Given the description of an element on the screen output the (x, y) to click on. 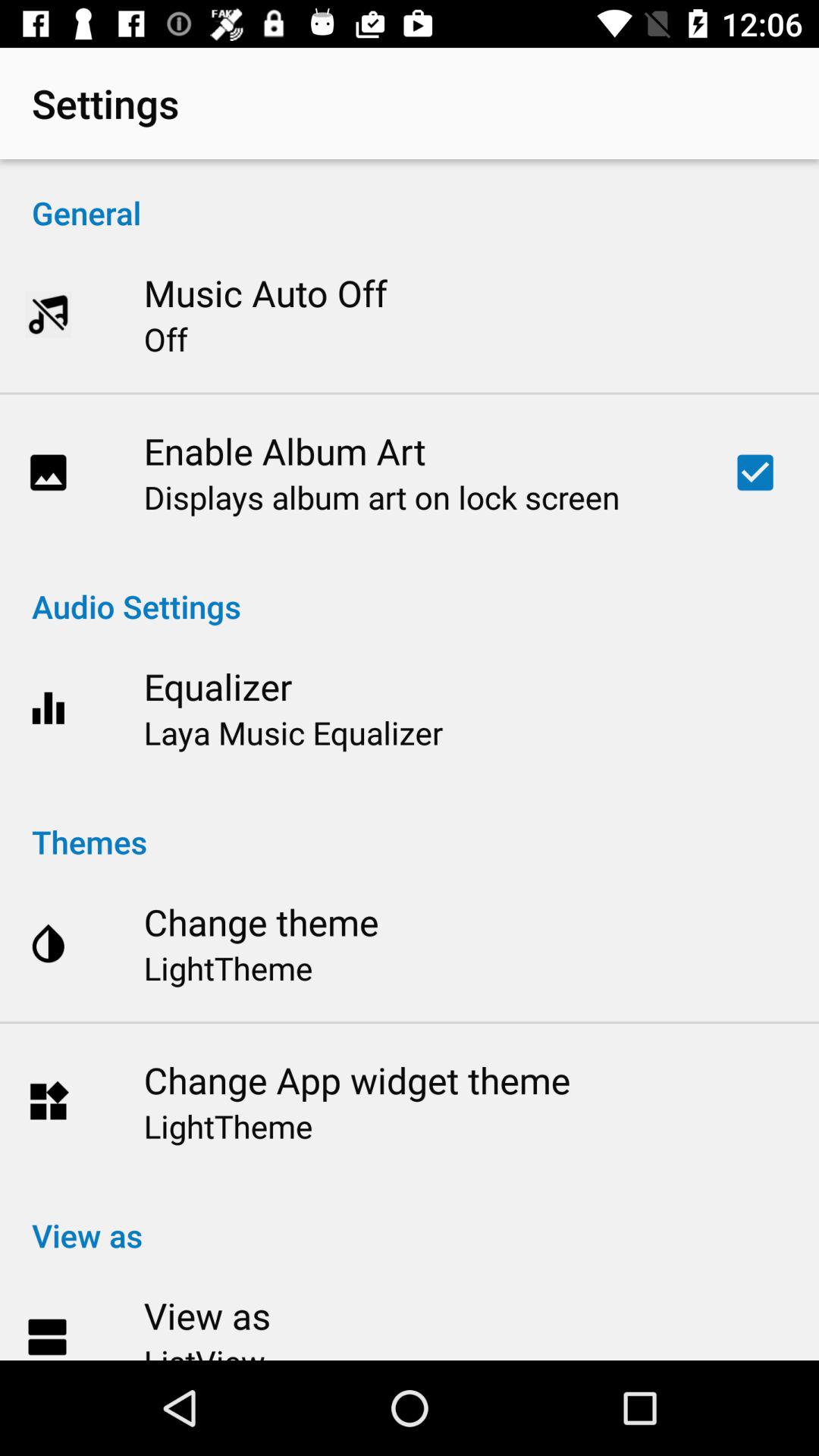
tap the item next to displays album art (755, 472)
